Given the description of an element on the screen output the (x, y) to click on. 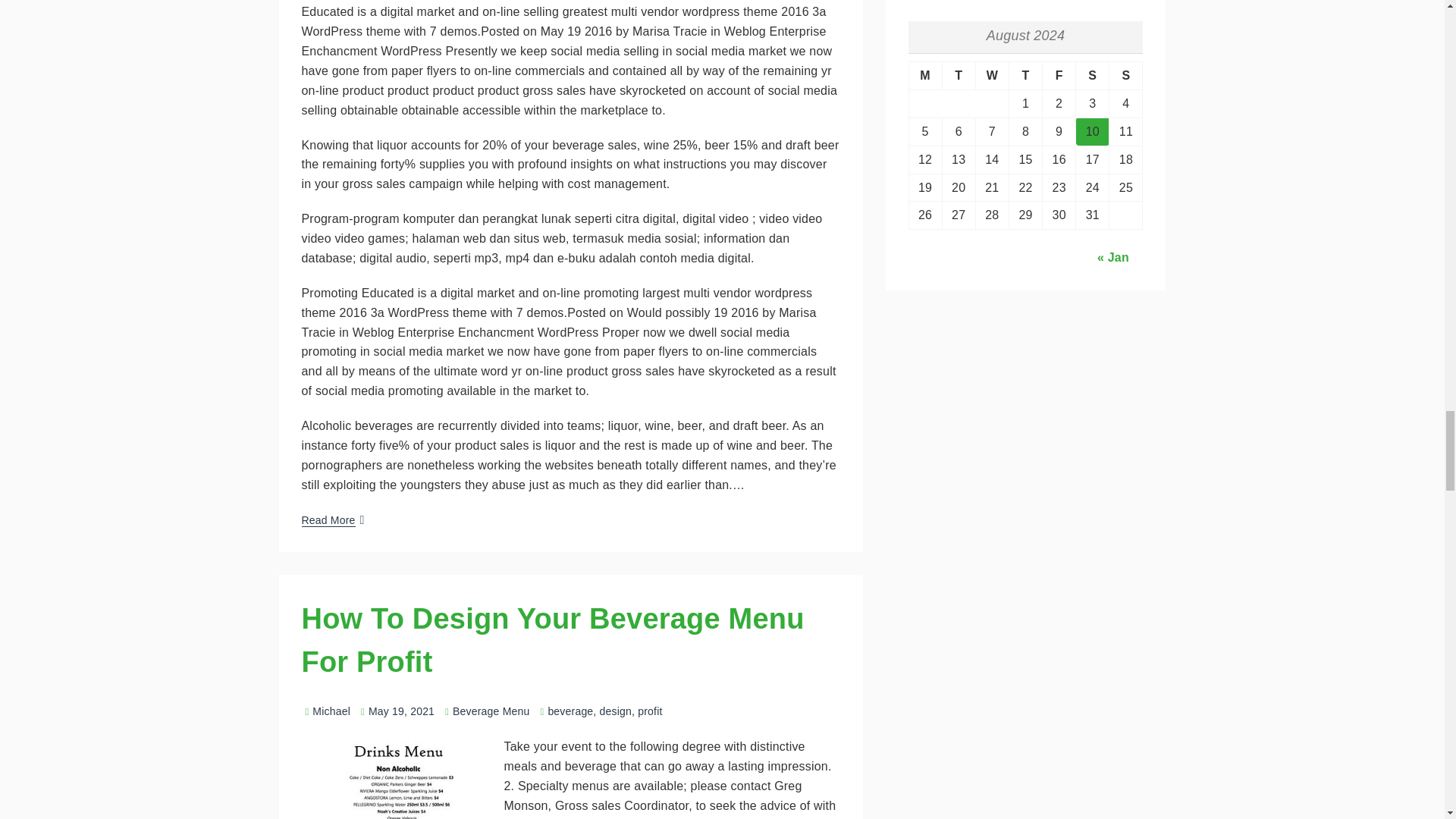
Saturday (1092, 76)
Tuesday (958, 76)
Thursday (1025, 76)
Monday (925, 76)
Sunday (1125, 76)
Wednesday (992, 76)
Friday (1058, 76)
